Given the description of an element on the screen output the (x, y) to click on. 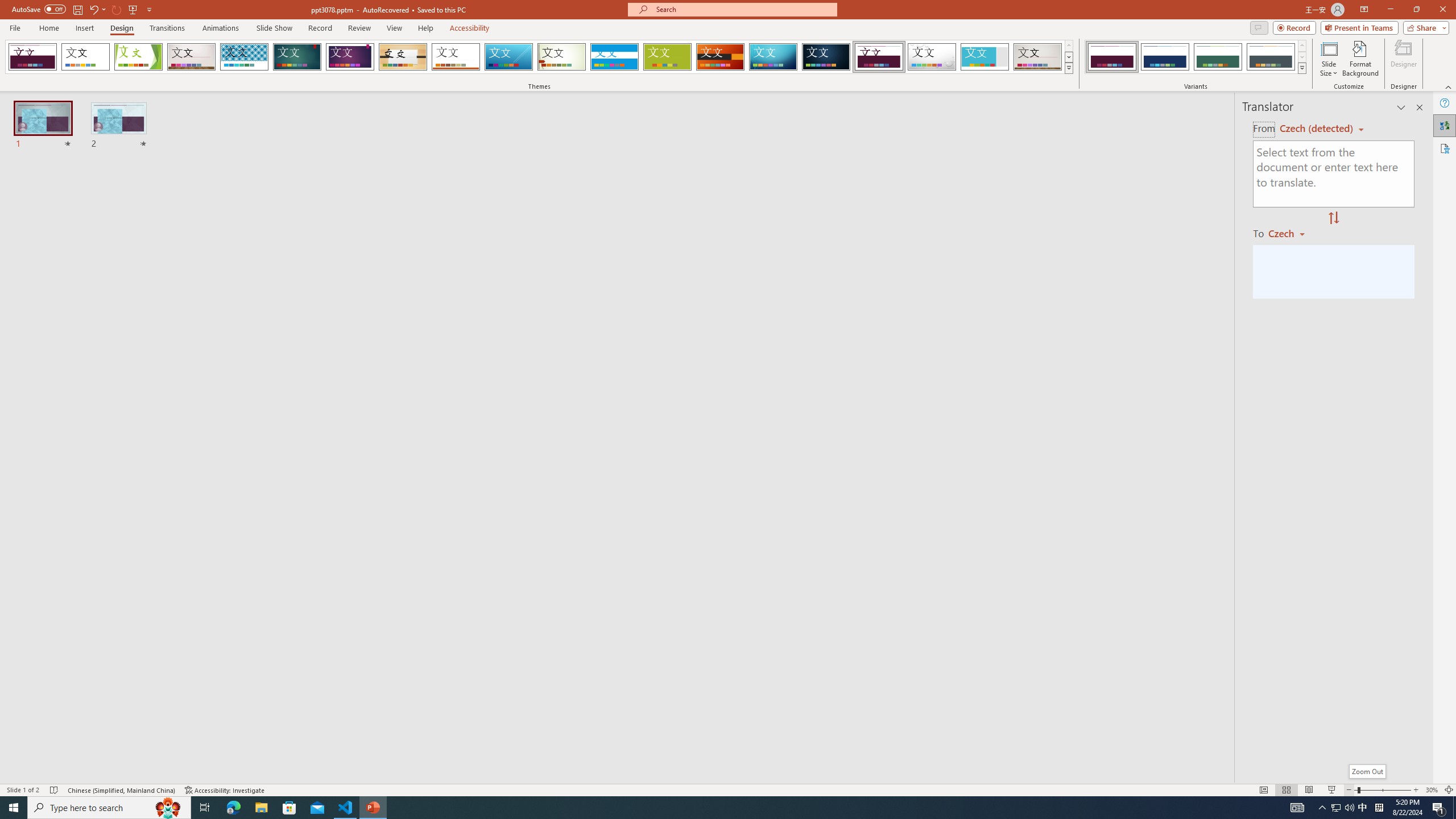
Slice (508, 56)
Czech (1291, 232)
Dividend (879, 56)
Droplet (931, 56)
Facet (138, 56)
